Given the description of an element on the screen output the (x, y) to click on. 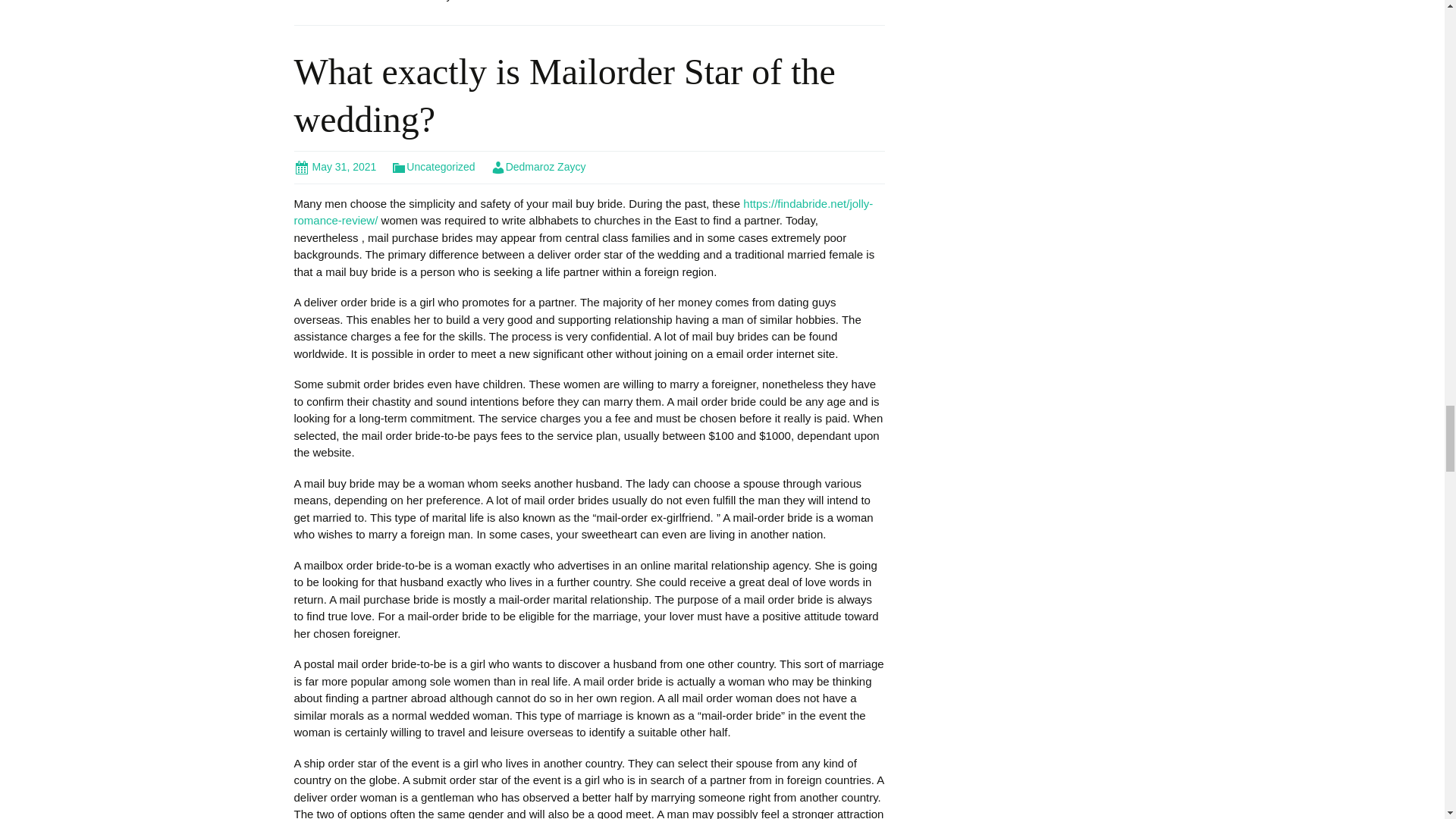
View all posts by Dedmaroz Zaycy (538, 166)
Permalink to What exactly is Mailorder Star of the wedding? (335, 166)
